Given the description of an element on the screen output the (x, y) to click on. 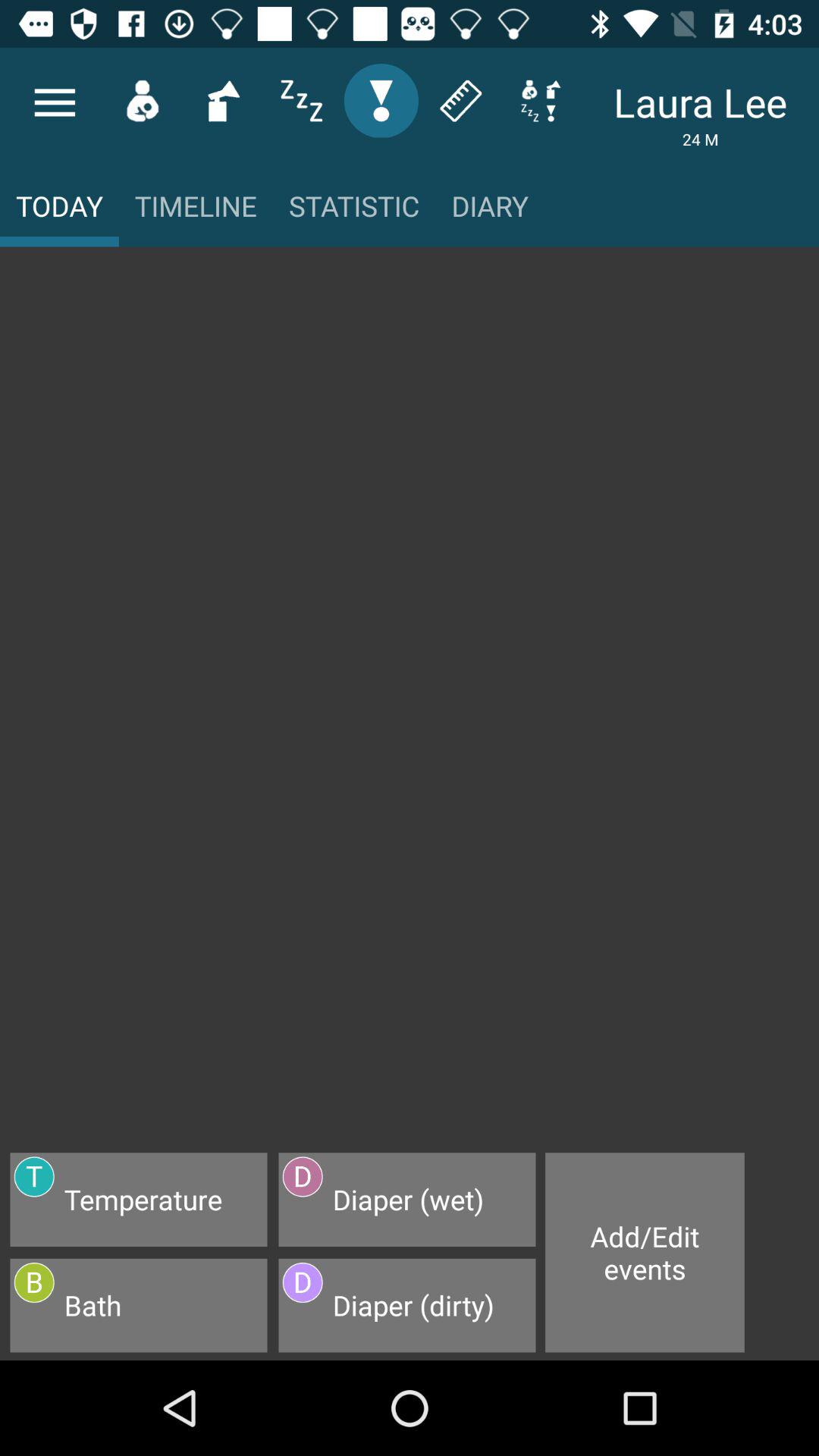
launch add/edit
events item (644, 1252)
